Given the description of an element on the screen output the (x, y) to click on. 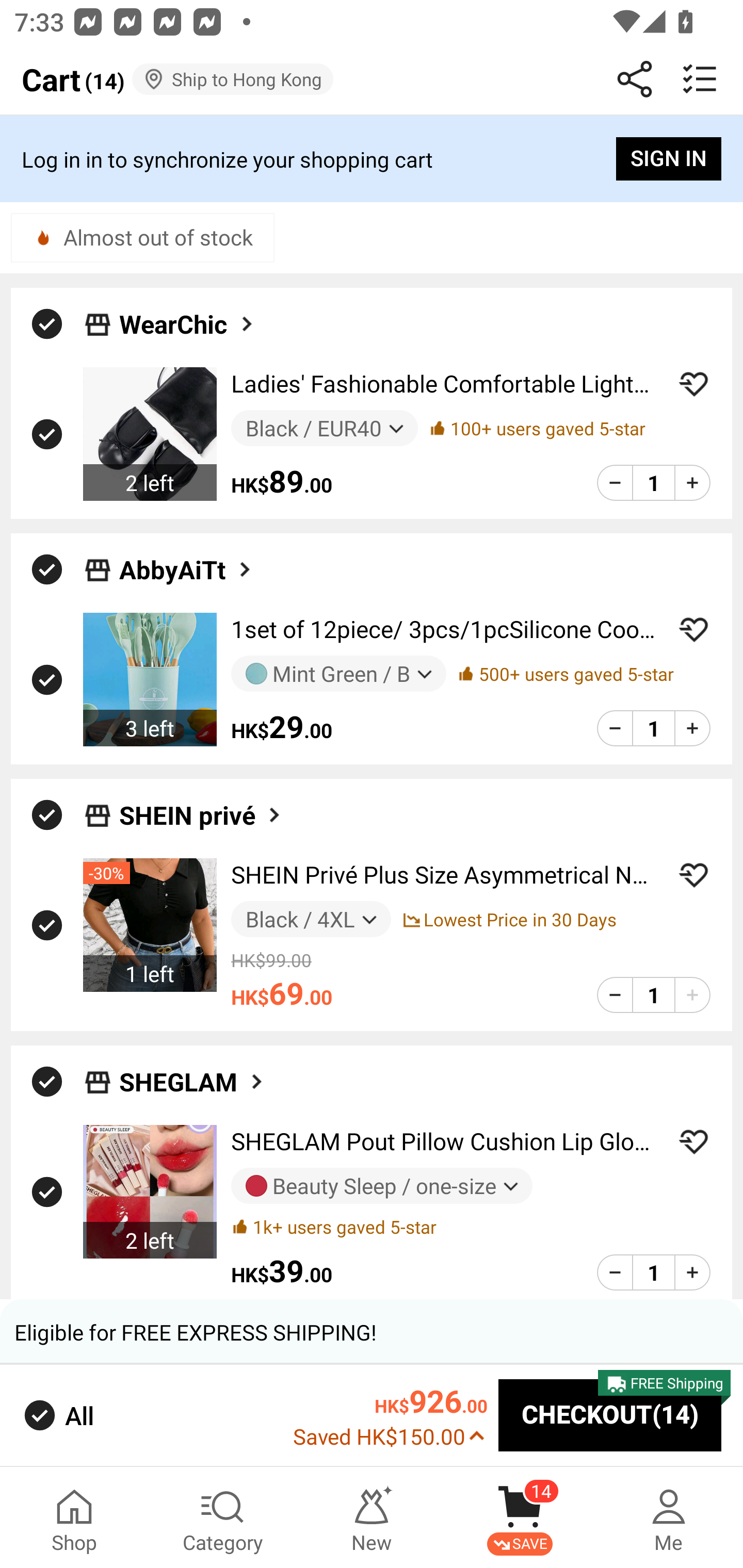
Cart (14) Ship to Hong Kong Share batch delete (371, 79)
Share (634, 79)
batch delete (699, 79)
Ship to Hong Kong (232, 78)
SIGN IN (668, 158)
Almost out of stock (142, 237)
WearChic (371, 318)
WearChic (187, 323)
ADD TO WISHLIST (693, 383)
Black / EUR40 (324, 428)
product quantity minus 1 (614, 482)
1 edit product quantity (653, 482)
product quantity add 1 (692, 482)
AbbyAiTt (371, 563)
AbbyAiTt (186, 568)
ADD TO WISHLIST (693, 629)
 Mint Green / B (338, 673)
product quantity minus 1 (614, 728)
1 edit product quantity (653, 728)
product quantity add 1 (692, 728)
SHEIN privé (371, 809)
SHEIN privé (201, 815)
ADD TO WISHLIST (693, 874)
Black / 4XL (310, 919)
product quantity minus 1 (614, 994)
1 edit product quantity (653, 994)
product quantity add 1 (692, 994)
SHEGLAM (371, 1076)
SHEGLAM (192, 1081)
ADD TO WISHLIST (693, 1141)
 Beauty Sleep / one-size (381, 1186)
product quantity minus 1 (614, 1272)
1 edit product quantity (653, 1272)
product quantity add 1 (692, 1272)
Eligible for FREE EXPRESS SHIPPING! (371, 1331)
CHECKOUT(14) (609, 1415)
HK$926.00 Saved HK$150.00 (389, 1414)
